Given the description of an element on the screen output the (x, y) to click on. 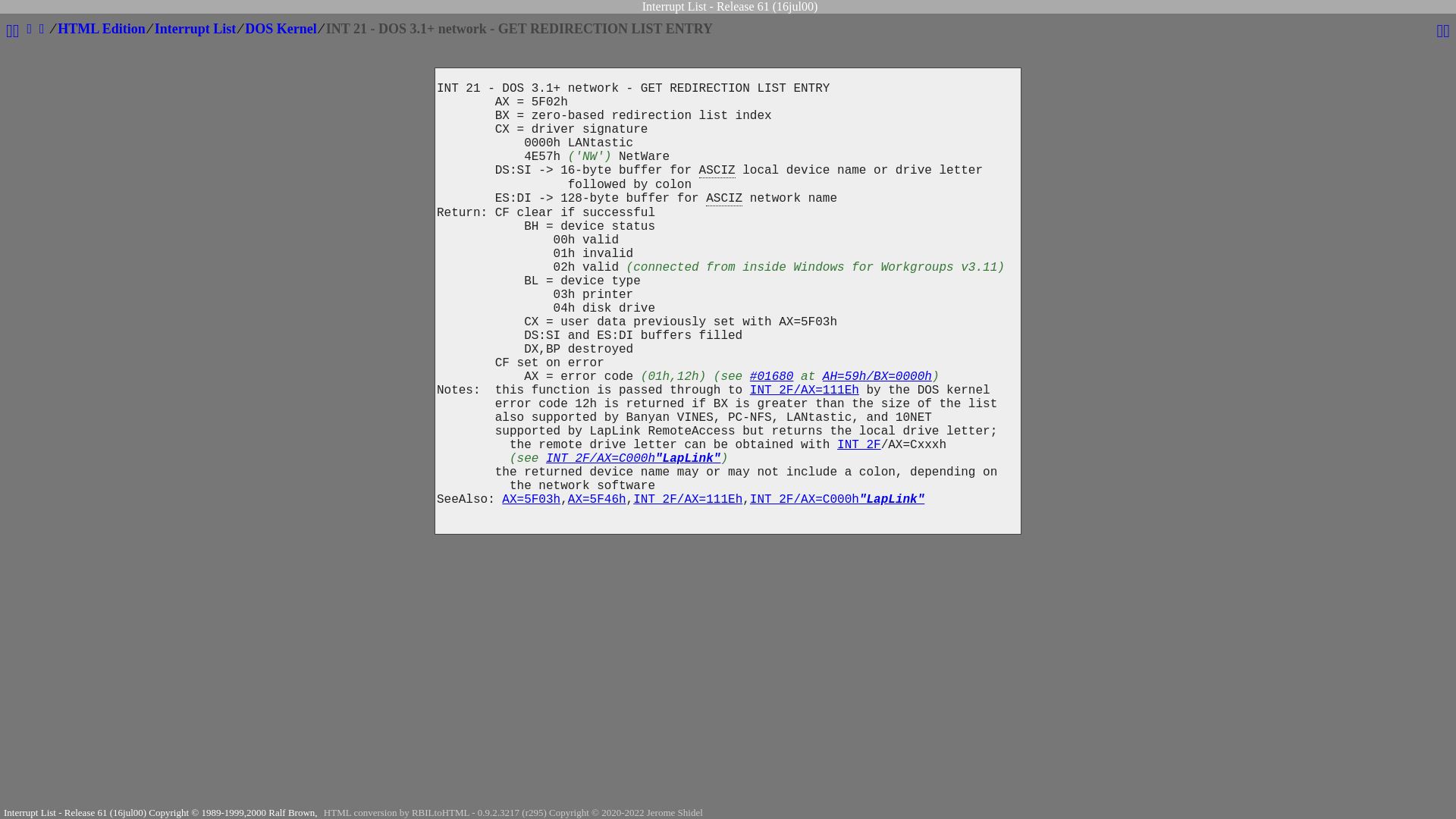
#01680 Element type: text (771, 376)
INT 2F/AX=111Eh Element type: text (687, 499)
INT 2F/AX=C000h"LapLink" Element type: text (633, 458)
INT 2F Element type: text (859, 444)
AX=5F03h Element type: text (531, 499)
Interrupt List Element type: text (195, 28)
AH=59h/BX=0000h Element type: text (876, 376)
HTML Edition Element type: text (101, 28)
INT 2F/AX=C000h"LapLink" Element type: text (836, 499)
INT 2F/AX=111Eh Element type: text (804, 390)
AX=5F46h Element type: text (596, 499)
DOS Kernel Element type: text (280, 28)
